Given the description of an element on the screen output the (x, y) to click on. 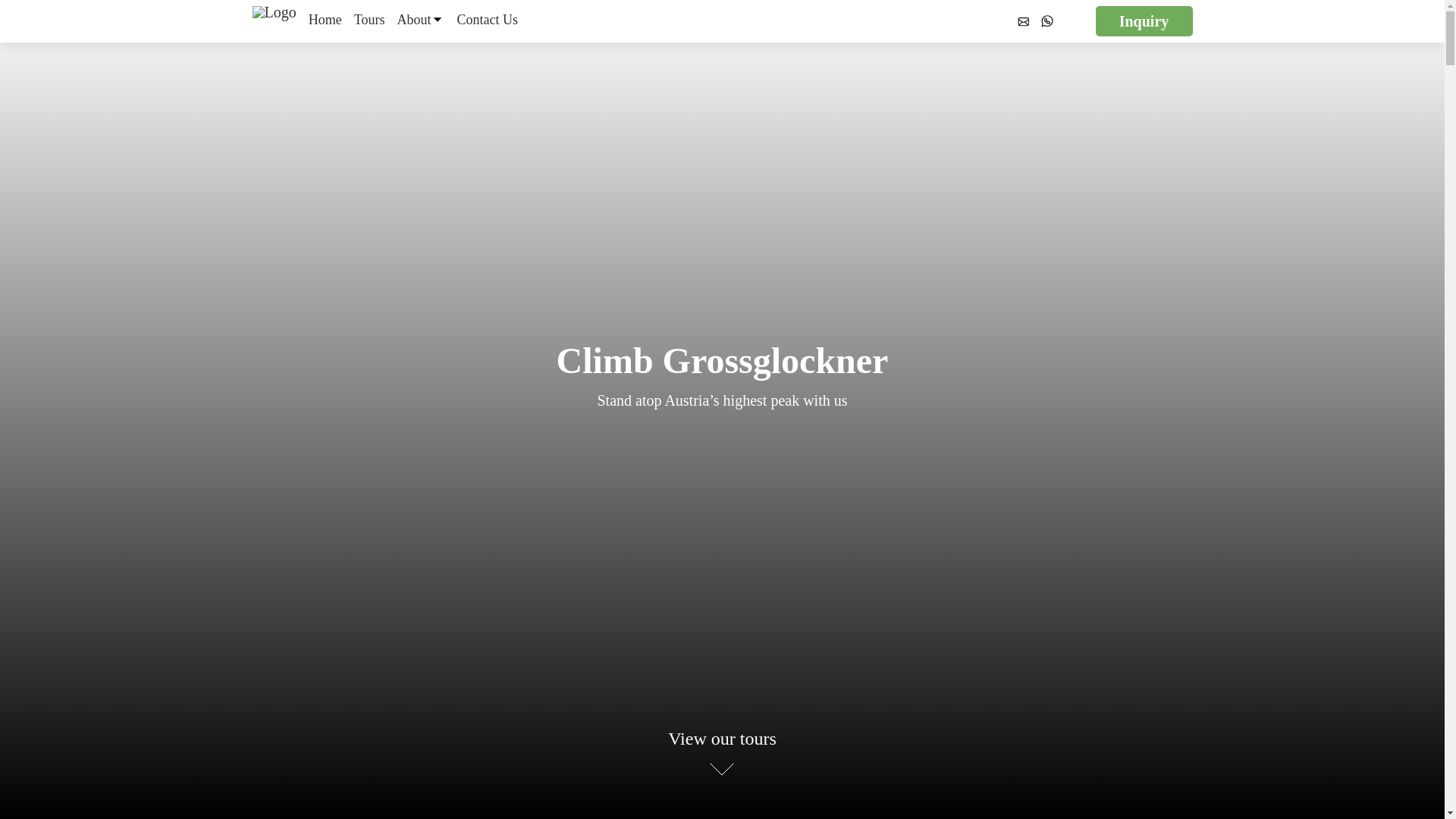
View our tours (722, 751)
Inquiry (1143, 20)
Contact Us (487, 21)
